Given the description of an element on the screen output the (x, y) to click on. 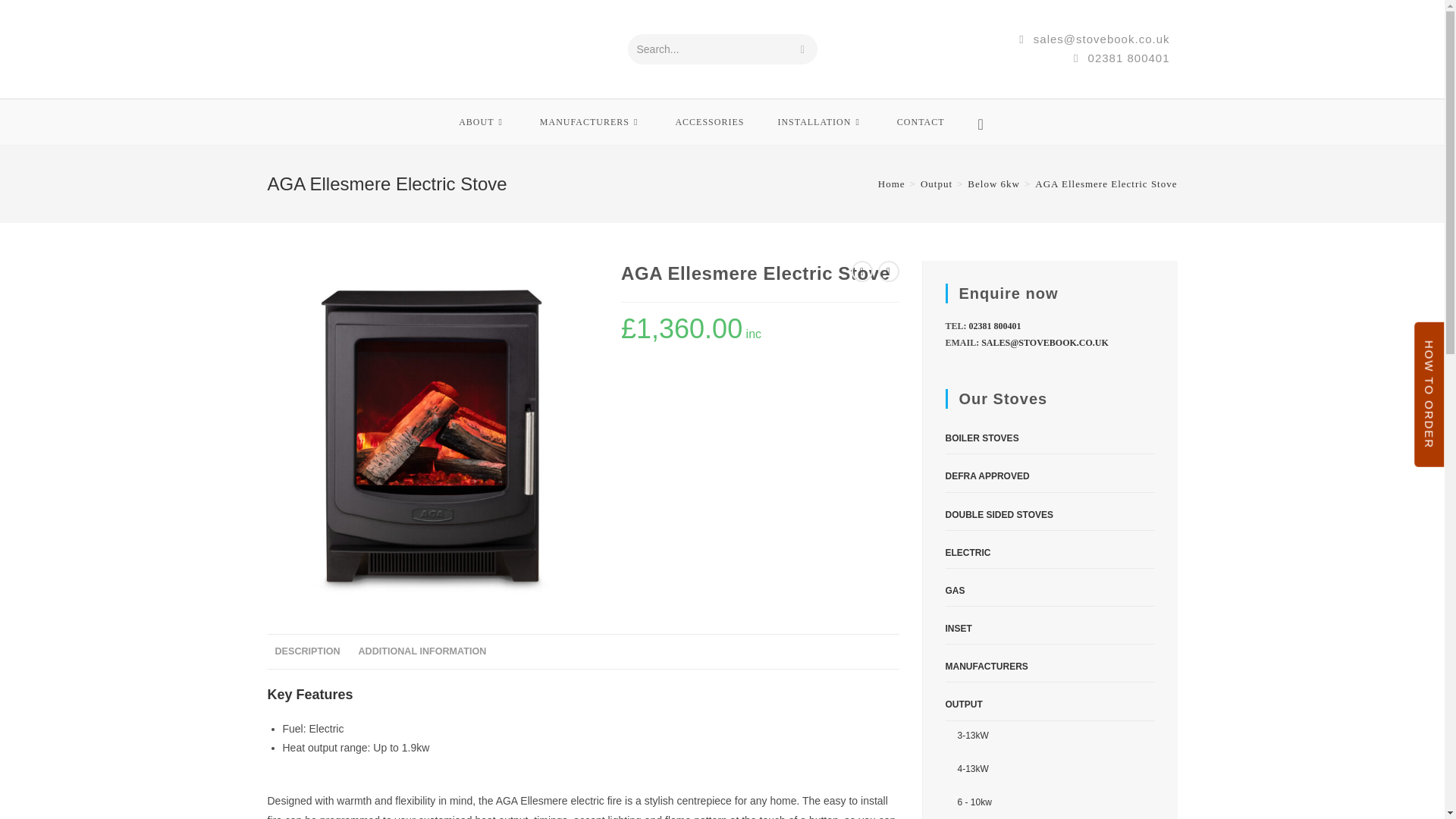
ABOUT (482, 121)
CONTACT (920, 121)
INSTALLATION (819, 121)
MANUFACTURERS (590, 121)
AGA Ellesmere Electric Stove (430, 435)
ACCESSORIES (709, 121)
02381 800401 (1121, 58)
